Given the description of an element on the screen output the (x, y) to click on. 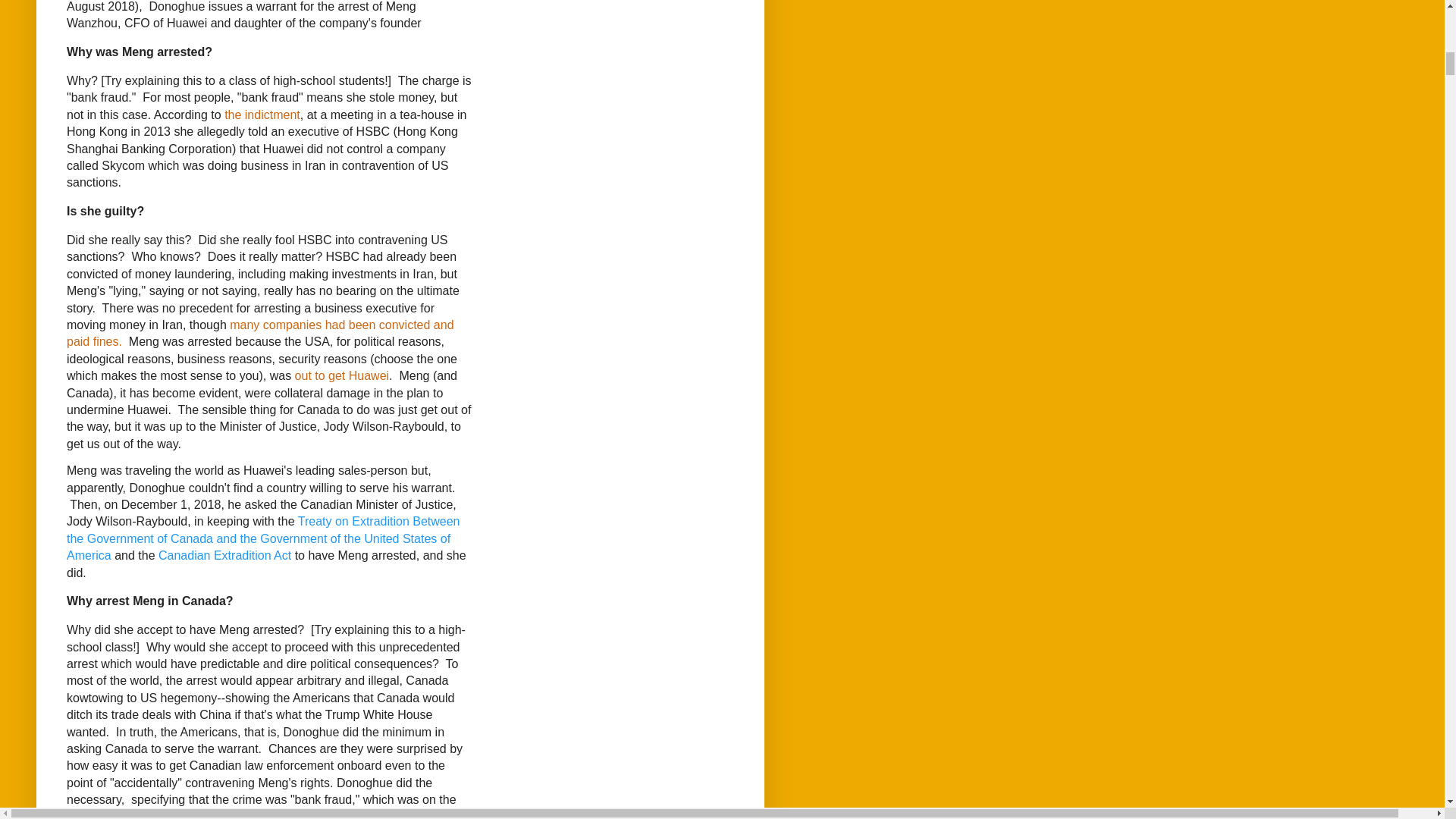
the indictment (261, 114)
out to get Huawei (342, 375)
many companies had been convicted and paid fines. (260, 333)
Canadian Extradition Act (224, 554)
